Given the description of an element on the screen output the (x, y) to click on. 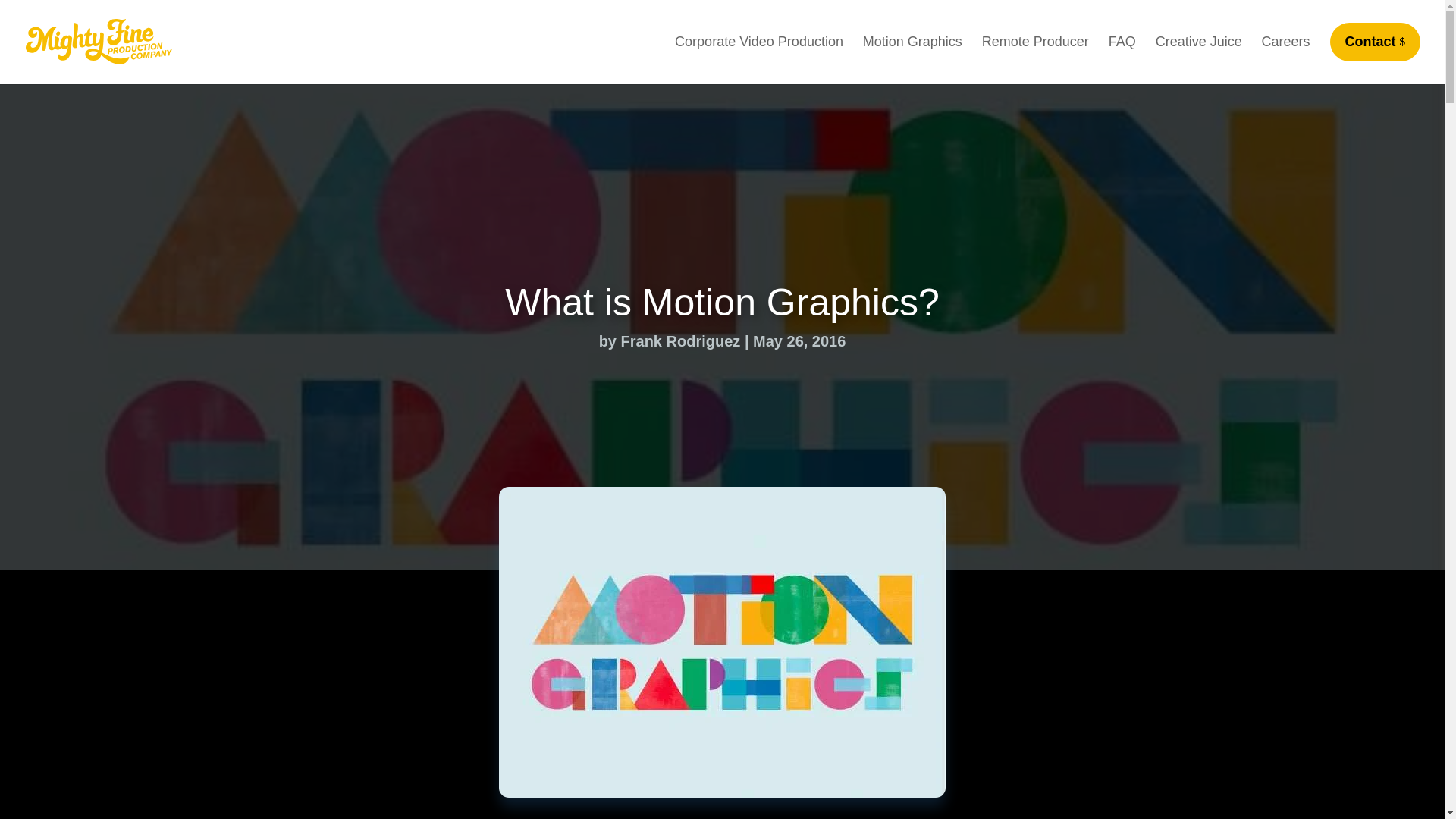
Corporate Video Production (759, 57)
Careers (1286, 57)
Motion Graphics (912, 57)
Remote Producer (1035, 57)
Frank Rodriguez (681, 340)
Creative Juice (1198, 57)
Contact (1375, 41)
Posts by Frank Rodriguez (681, 340)
